Given the description of an element on the screen output the (x, y) to click on. 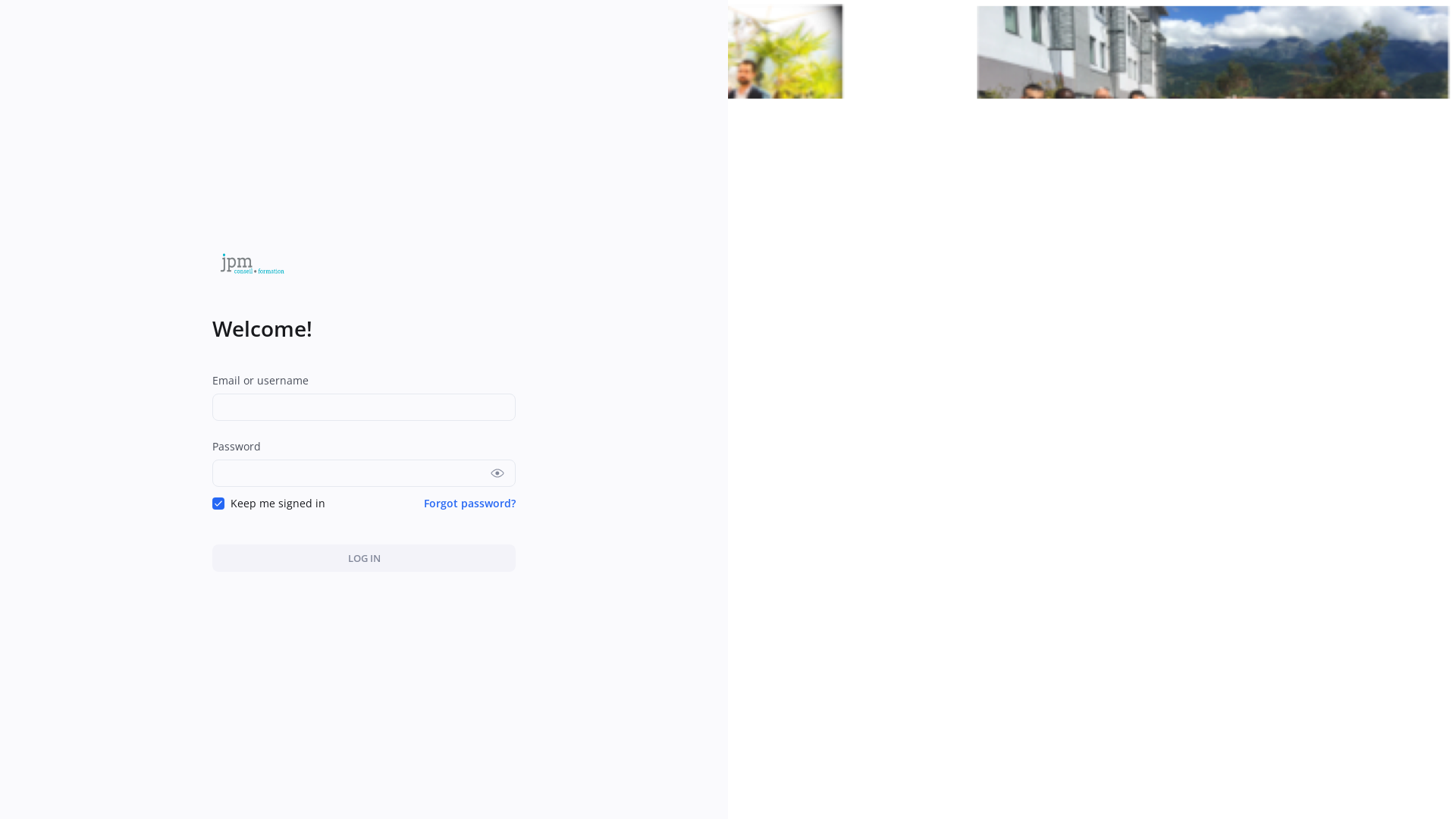
LOG IN Element type: text (363, 539)
Forgot password? Element type: text (469, 484)
